Given the description of an element on the screen output the (x, y) to click on. 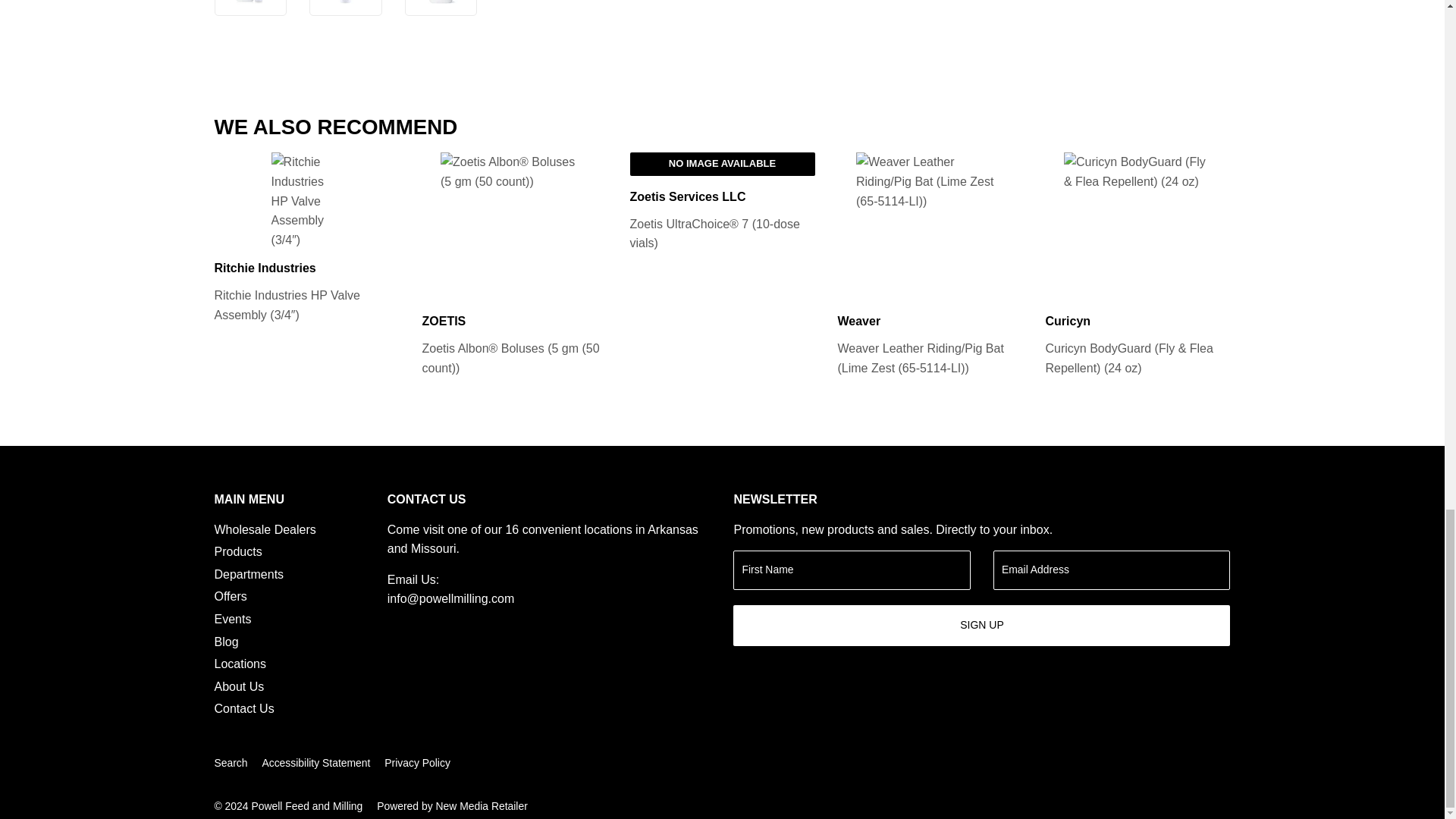
New Media Retailer (452, 805)
